Given the description of an element on the screen output the (x, y) to click on. 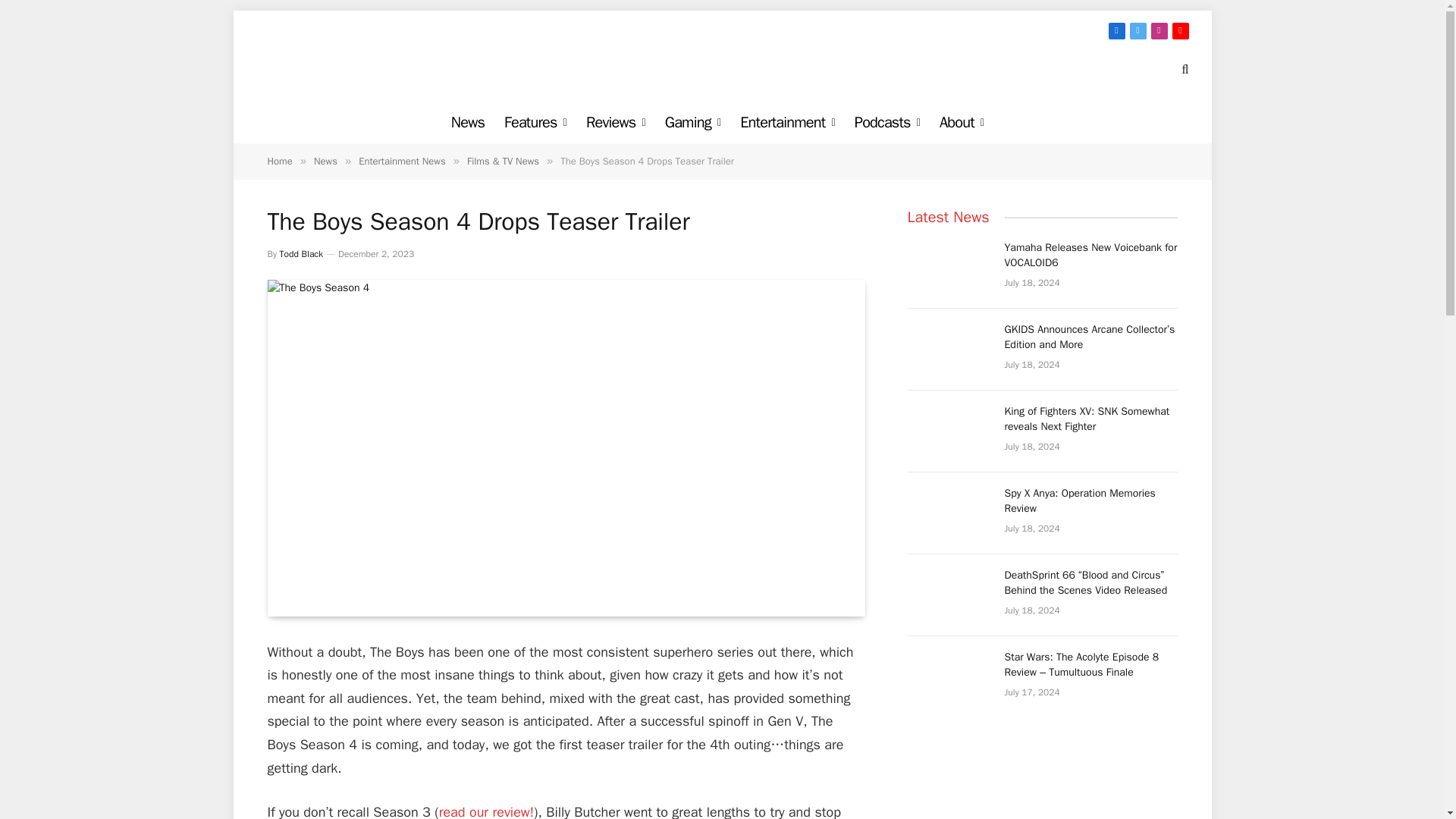
Posts by Todd Black (301, 254)
Yamaha Releases New Voicebank for VOCALOID6 (948, 267)
The Outerhaven (722, 68)
YouTube (1180, 30)
Facebook (1116, 30)
Instagram (1159, 30)
Features (535, 122)
News (468, 122)
Reviews (615, 122)
